Given the description of an element on the screen output the (x, y) to click on. 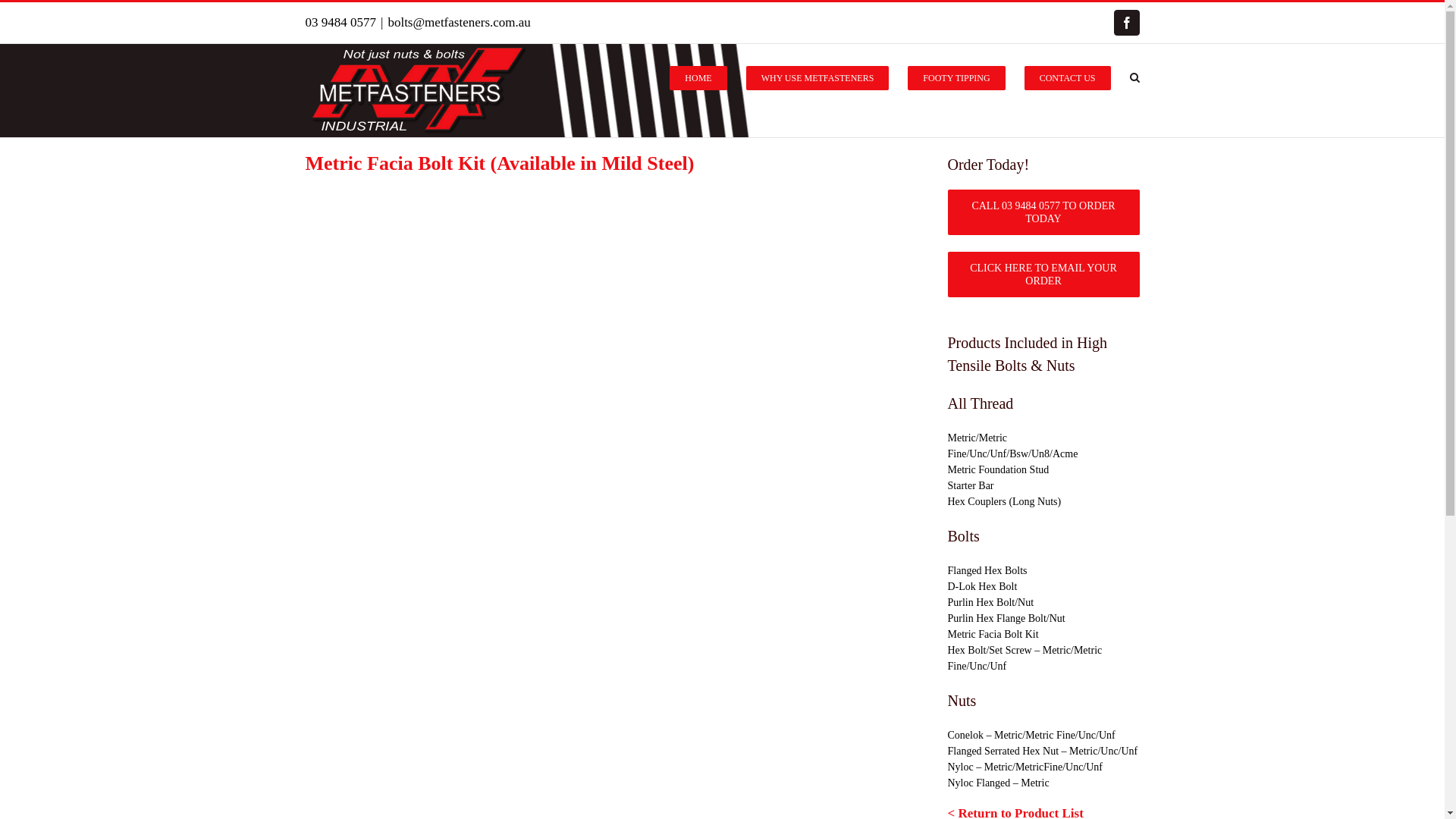
Facebook Element type: text (1126, 22)
FOOTY TIPPING Element type: text (955, 76)
HOME Element type: text (697, 76)
bolts@metfasteners.com.au Element type: text (458, 22)
WHY USE METFASTENERS Element type: text (817, 76)
CONTACT US Element type: text (1067, 76)
CALL 03 9484 0577 TO ORDER TODAY Element type: text (1043, 212)
03 9484 0577 Element type: text (340, 22)
CLICK HERE TO EMAIL YOUR ORDER Element type: text (1043, 274)
